Given the description of an element on the screen output the (x, y) to click on. 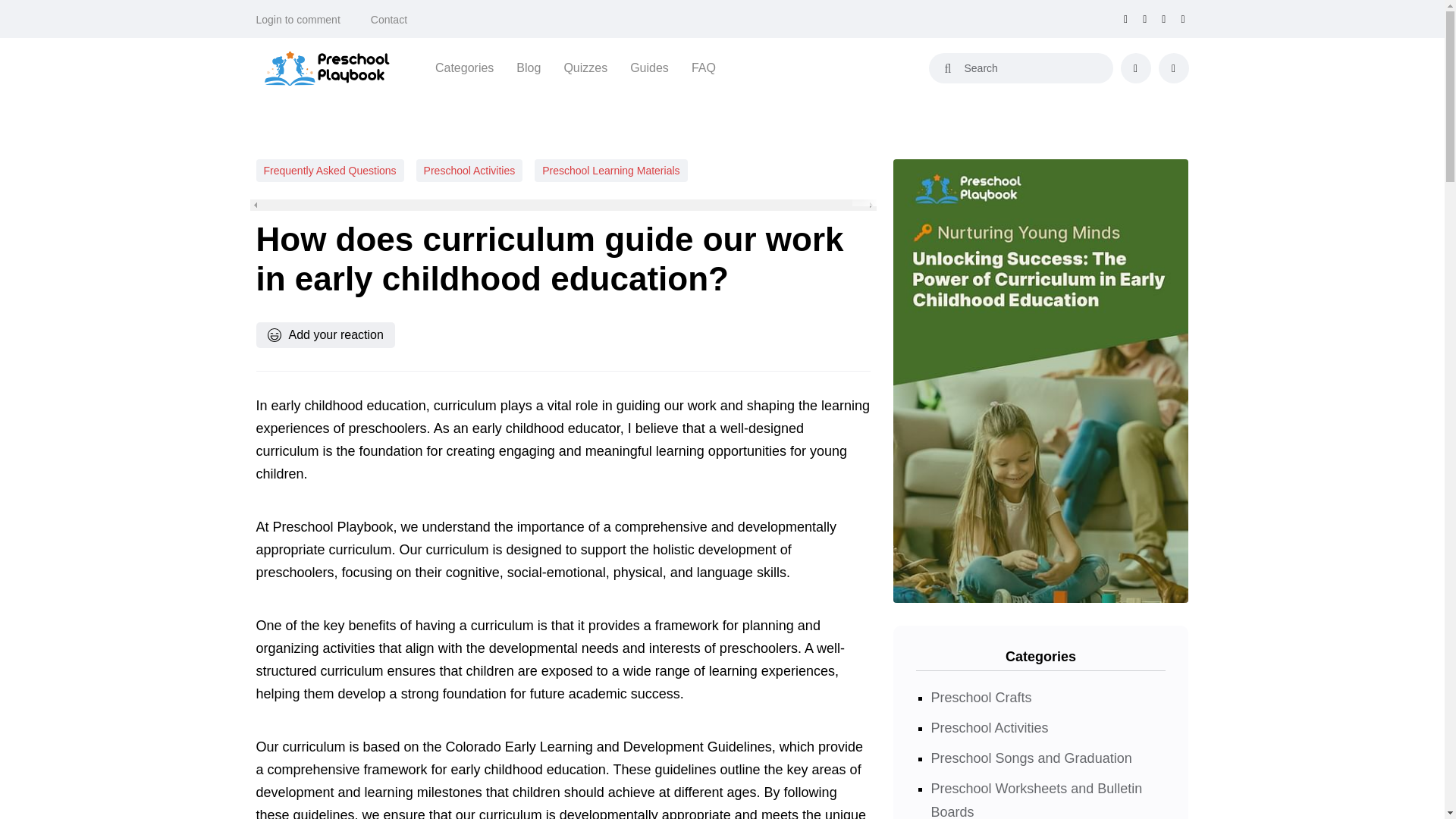
Categories (464, 67)
Contact (389, 19)
Login to comment (298, 19)
